Given the description of an element on the screen output the (x, y) to click on. 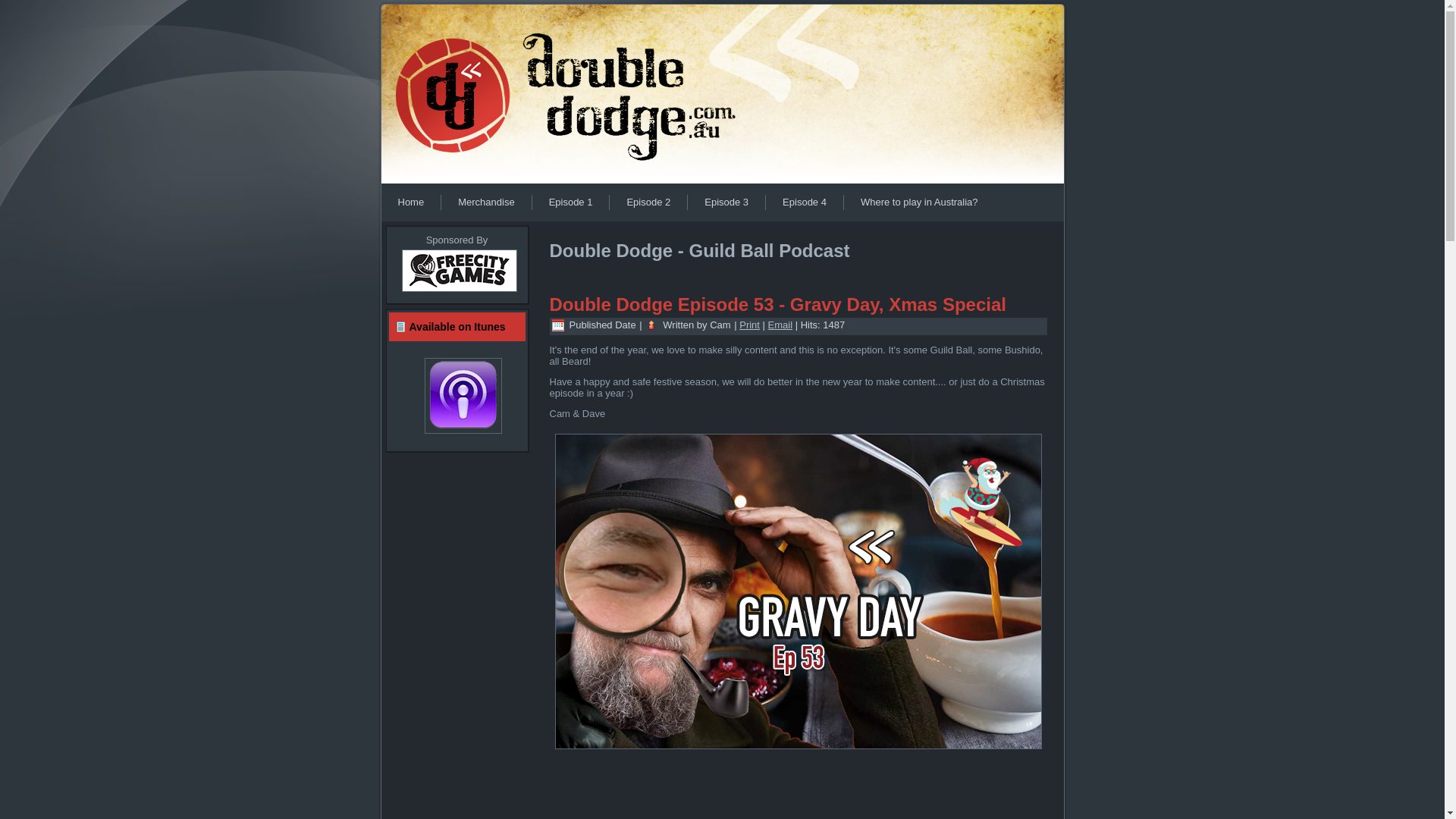
Email Element type: text (780, 324)
Itunes Double Dodge Podcast Element type: hover (456, 395)
Home Element type: text (410, 202)
Where to play in Australia? Element type: text (919, 202)
Episode 1 Element type: text (570, 202)
Episode 3 Element type: text (726, 202)
Free City Games Element type: hover (458, 292)
Print Element type: text (749, 324)
Merchandise Element type: text (485, 202)
Episode 2 Element type: text (648, 202)
Episode 4 Element type: text (804, 202)
Double Dodge Episode 53 - Gravy Day, Xmas Special Element type: text (777, 304)
